Given the description of an element on the screen output the (x, y) to click on. 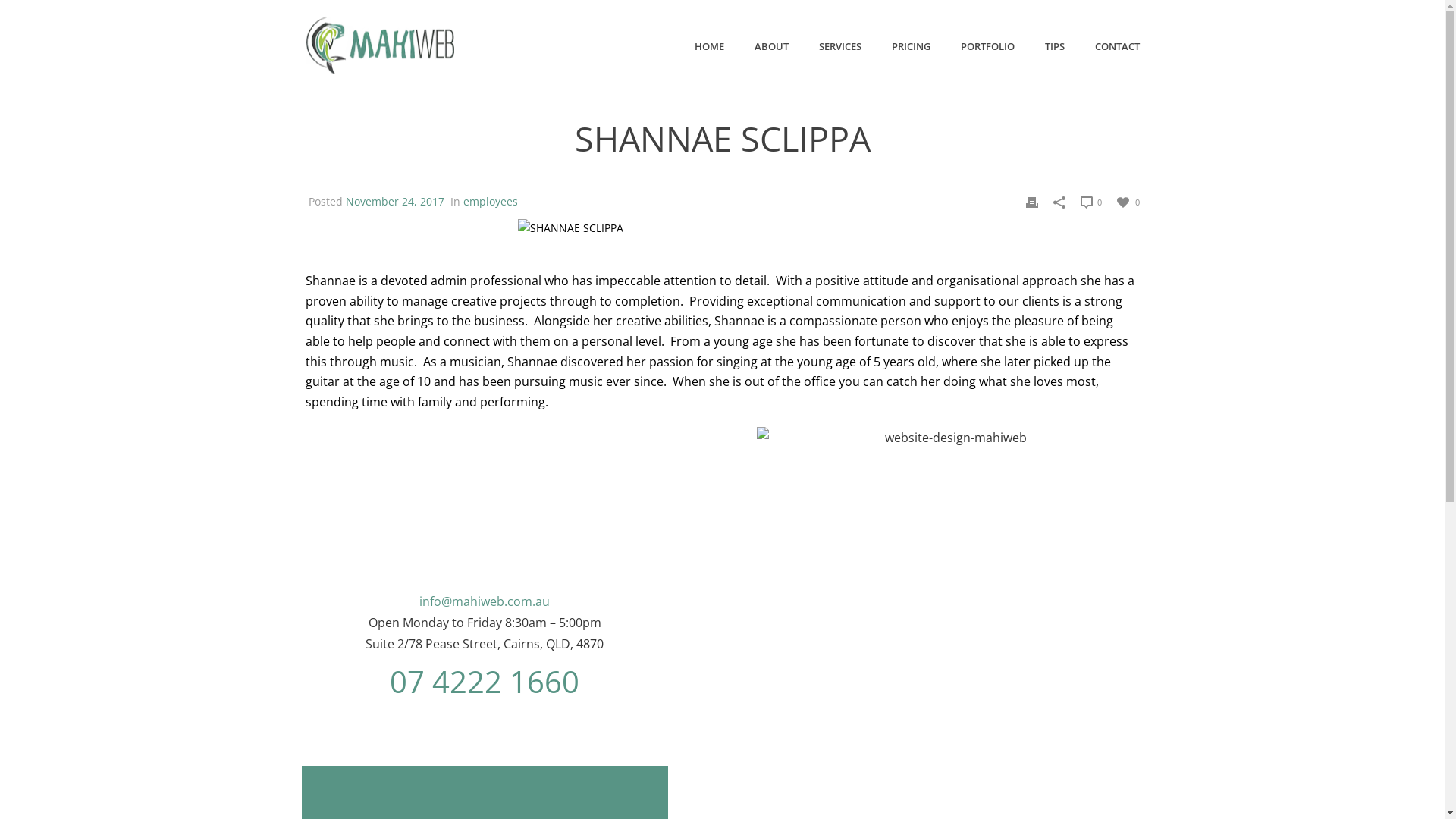
Print Element type: hover (1031, 201)
November 24, 2017 Element type: text (394, 201)
PRICING Element type: text (910, 46)
TIPS Element type: text (1054, 46)
ABOUT Element type: text (770, 46)
CONTACT Element type: text (1116, 46)
info@mahiweb.com.au Element type: text (484, 601)
PORTFOLIO Element type: text (986, 46)
SERVICES Element type: text (839, 46)
SHANNAE SCLIPPA Element type: hover (721, 227)
0 Element type: text (1090, 201)
HOME Element type: text (709, 46)
  Element type: text (721, 227)
07 4222 1660 Element type: text (484, 681)
SHANNAE SCLIPPA Element type: hover (569, 227)
0 Element type: text (1127, 201)
employees Element type: text (489, 201)
